Given the description of an element on the screen output the (x, y) to click on. 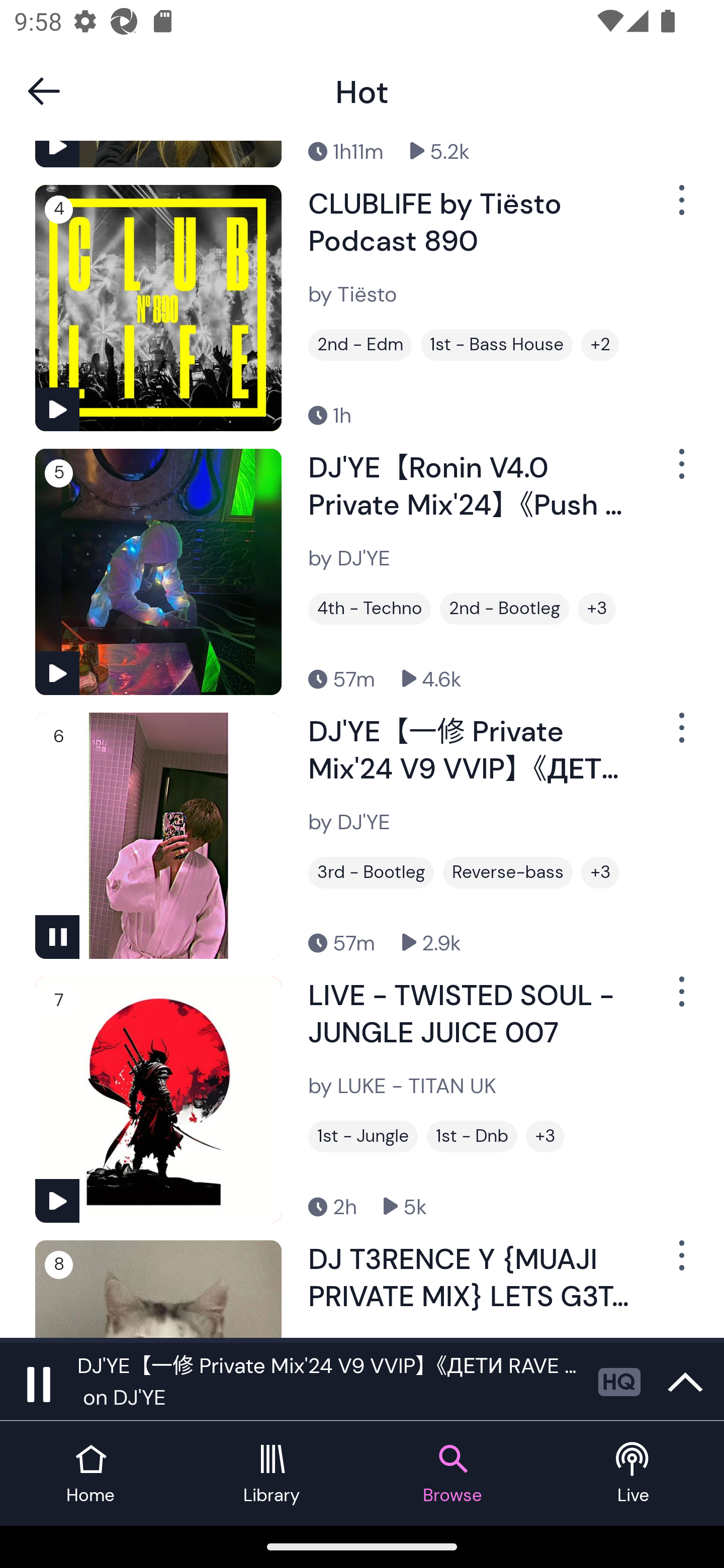
Show Options Menu Button (679, 207)
2nd - Edm (359, 344)
1st - Bass House (496, 344)
Show Options Menu Button (679, 470)
4th - Techno (369, 608)
2nd - Bootleg (504, 608)
Show Options Menu Button (679, 734)
3rd - Bootleg (370, 872)
Reverse-bass (507, 872)
Show Options Menu Button (679, 999)
1st - Jungle (362, 1136)
1st - Dnb (472, 1136)
Show Options Menu Button (679, 1262)
Home tab Home (90, 1473)
Library tab Library (271, 1473)
Browse tab Browse (452, 1473)
Live tab Live (633, 1473)
